Given the description of an element on the screen output the (x, y) to click on. 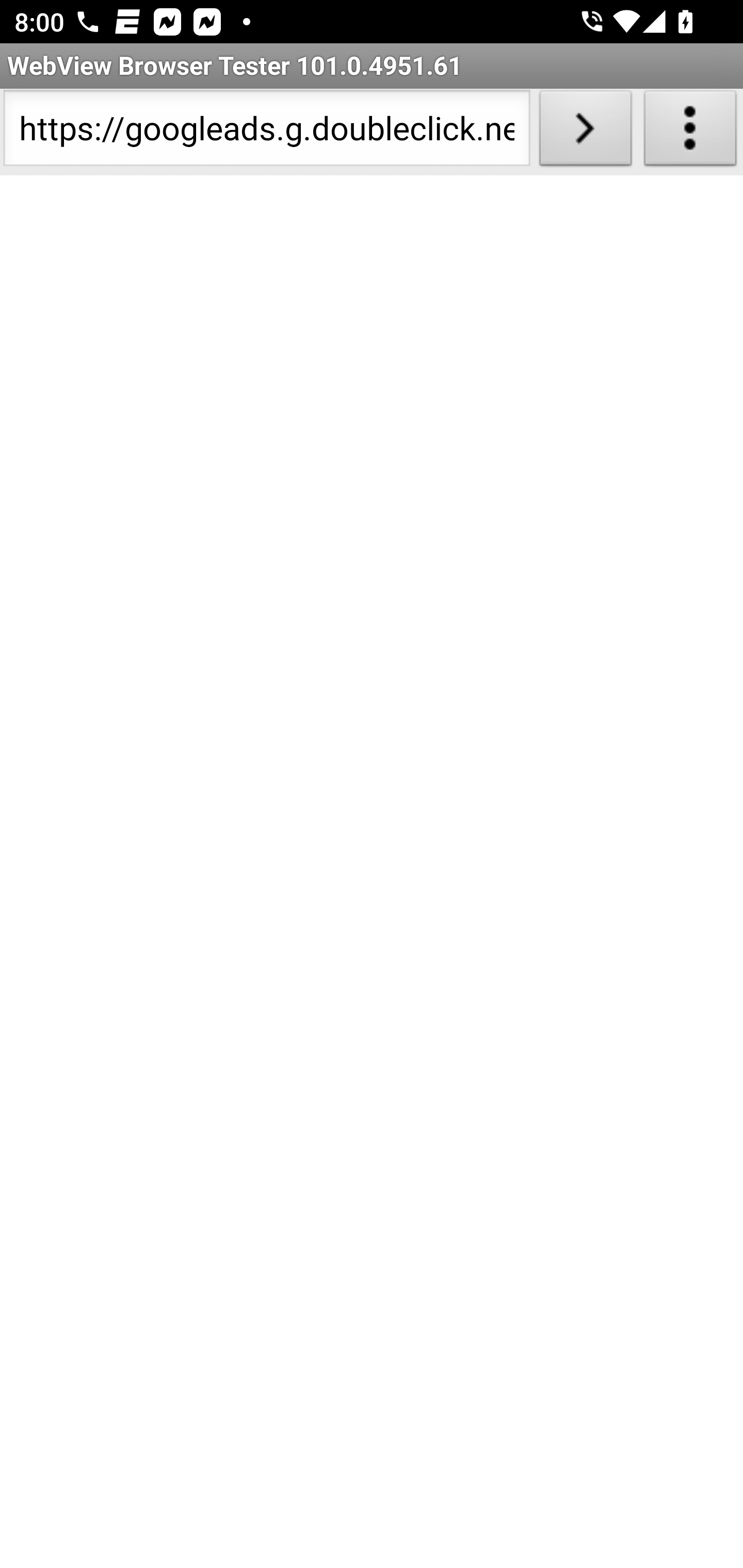
Load URL (585, 132)
About WebView (690, 132)
